Given the description of an element on the screen output the (x, y) to click on. 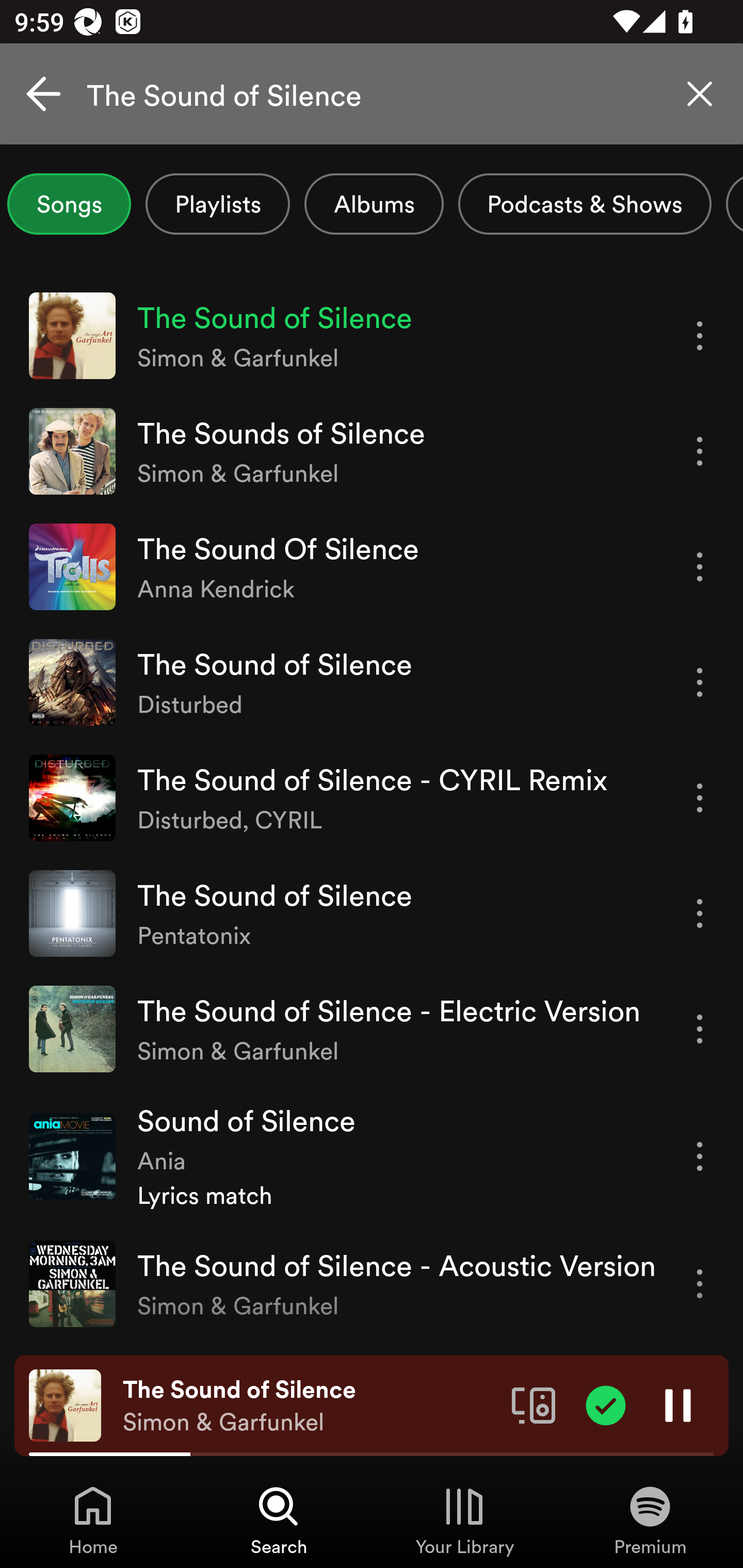
The Sound of Silence (371, 93)
Cancel (43, 93)
Clear search query (699, 93)
Songs (68, 203)
Playlists (217, 203)
Albums (373, 203)
Podcasts & Shows (584, 203)
Profiles (734, 203)
More options for song The Sound of Silence (699, 336)
More options for song The Sounds of Silence (699, 450)
More options for song The Sound Of Silence (699, 566)
More options for song The Sound of Silence (699, 682)
More options for song The Sound of Silence (699, 913)
More options for song Sound of Silence (699, 1156)
The Sound of Silence Simon & Garfunkel (309, 1405)
The cover art of the currently playing track (64, 1404)
Connect to a device. Opens the devices menu (533, 1404)
Item added (605, 1404)
Pause (677, 1404)
Home, Tab 1 of 4 Home Home (92, 1519)
Search, Tab 2 of 4 Search Search (278, 1519)
Your Library, Tab 3 of 4 Your Library Your Library (464, 1519)
Premium, Tab 4 of 4 Premium Premium (650, 1519)
